Given the description of an element on the screen output the (x, y) to click on. 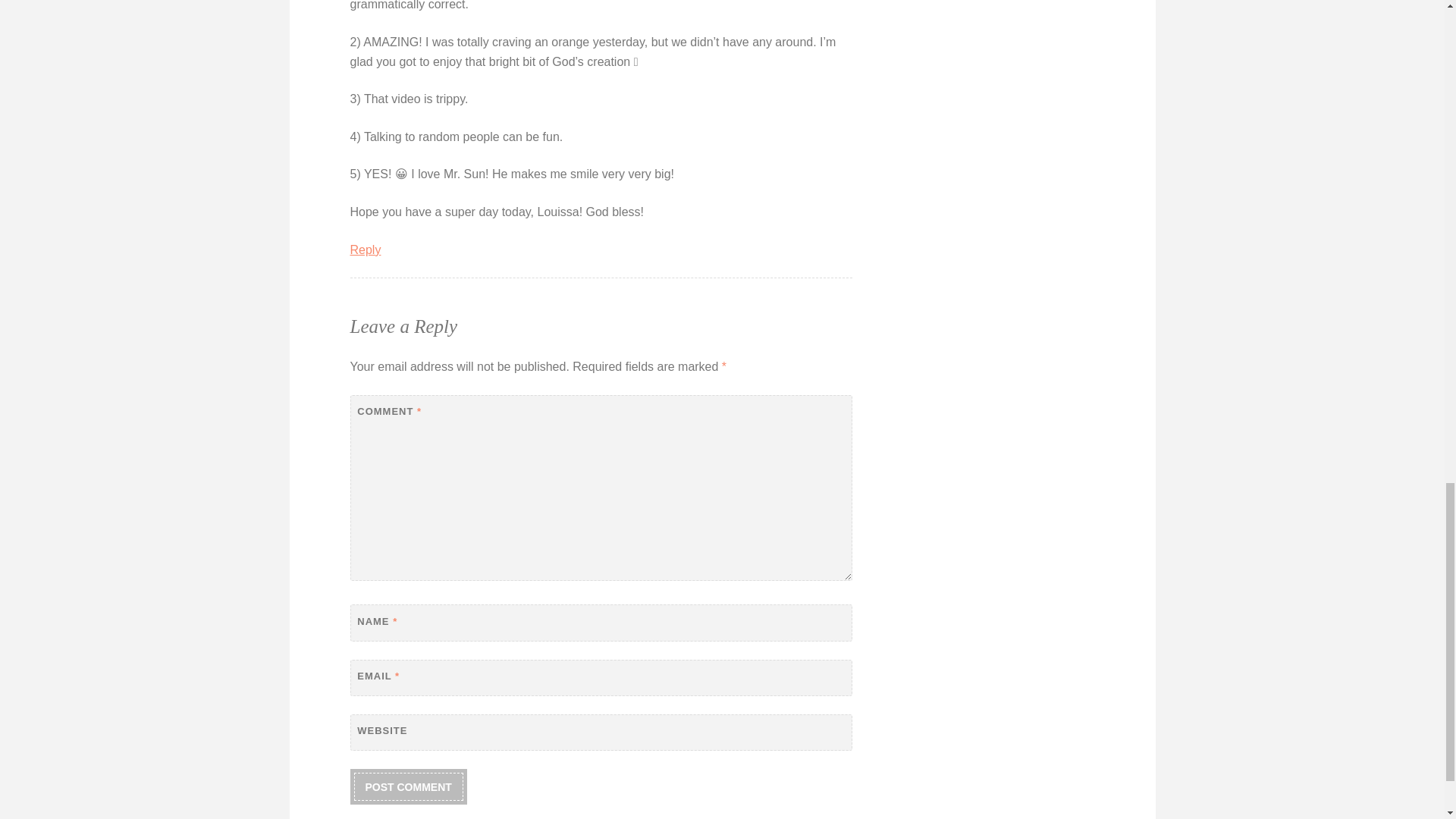
Reply (365, 249)
Post Comment (408, 786)
Post Comment (408, 786)
